Given the description of an element on the screen output the (x, y) to click on. 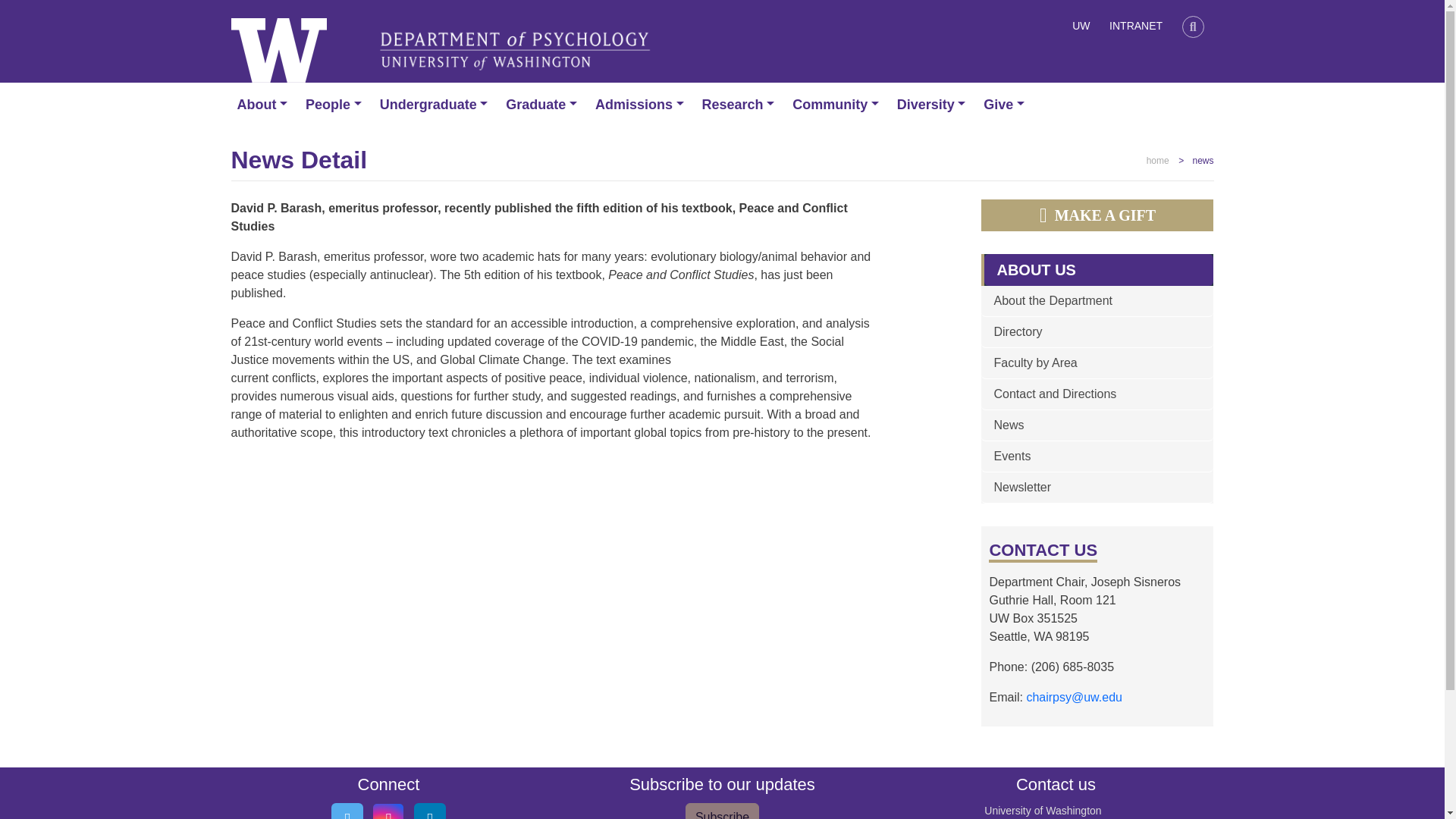
People (336, 104)
Search Button (1193, 28)
About (264, 104)
UW (1080, 28)
Graduate (544, 104)
Admissions (642, 104)
INTRANET (1135, 28)
Search Button (1193, 26)
Undergraduate (437, 104)
UW Homepage (1080, 28)
Research (741, 104)
